Given the description of an element on the screen output the (x, y) to click on. 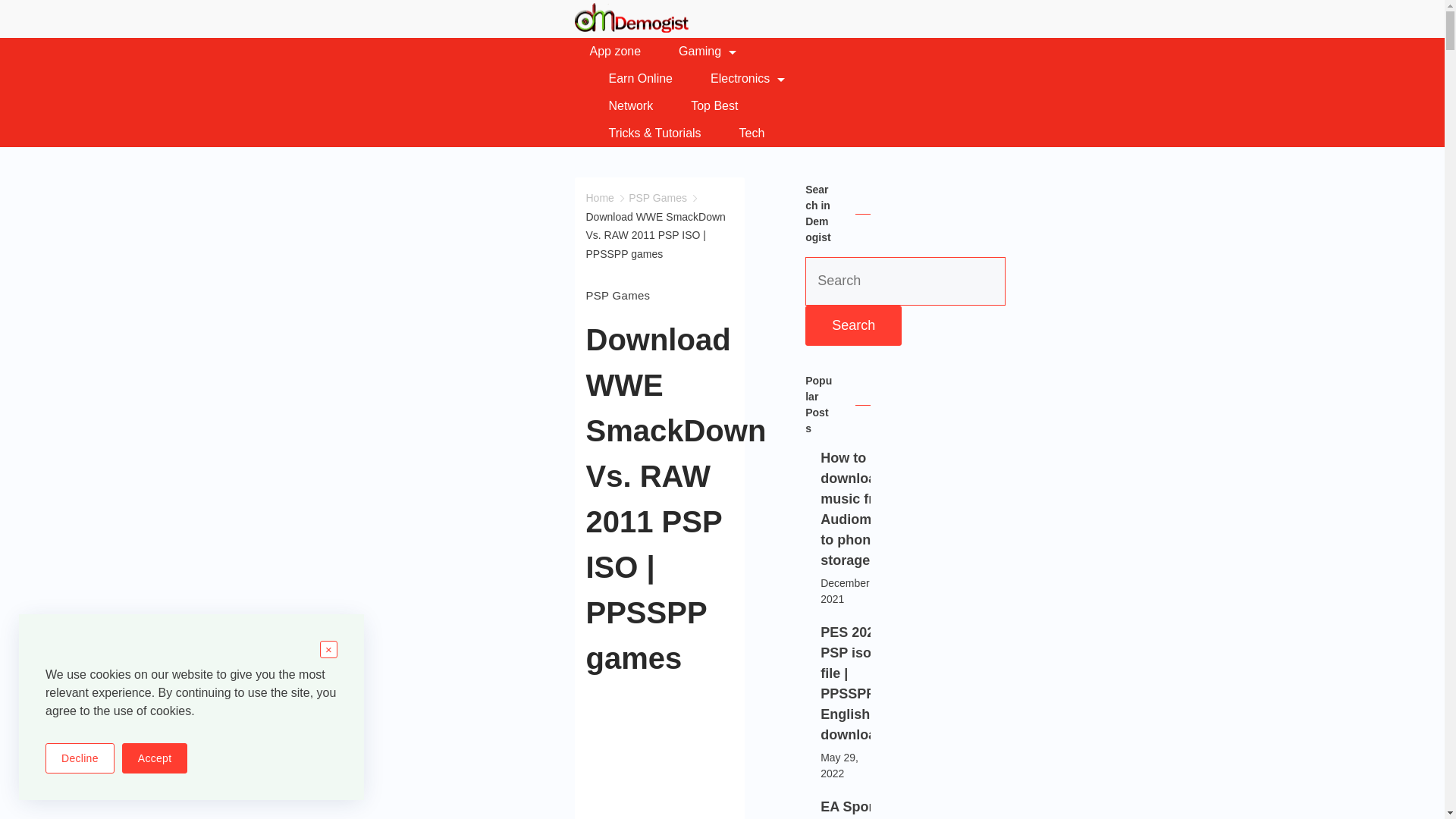
Earn Online (641, 78)
Gaming (707, 51)
PSP Games (657, 197)
Top Best (714, 105)
Advertisement (922, 757)
App zone (625, 51)
Search Input (905, 281)
Search (853, 324)
Search (853, 324)
Tech (742, 133)
Network (630, 105)
Home (598, 197)
PSP Games (617, 295)
Electronics (747, 78)
